Given the description of an element on the screen output the (x, y) to click on. 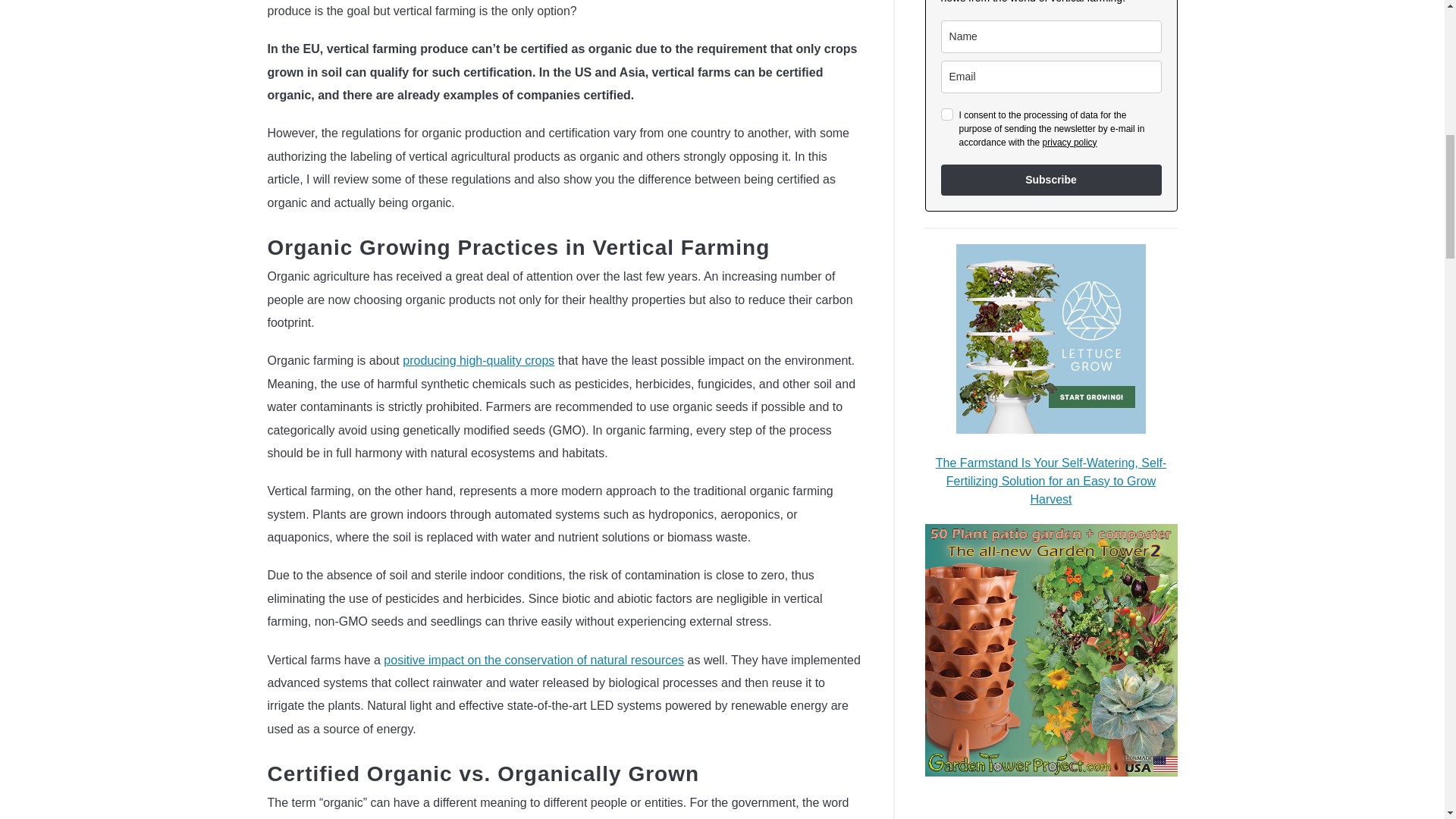
Subscribe (1050, 179)
privacy policy (1069, 142)
producing high-quality crops (478, 359)
positive impact on the conservation of natural resources (534, 659)
